Given the description of an element on the screen output the (x, y) to click on. 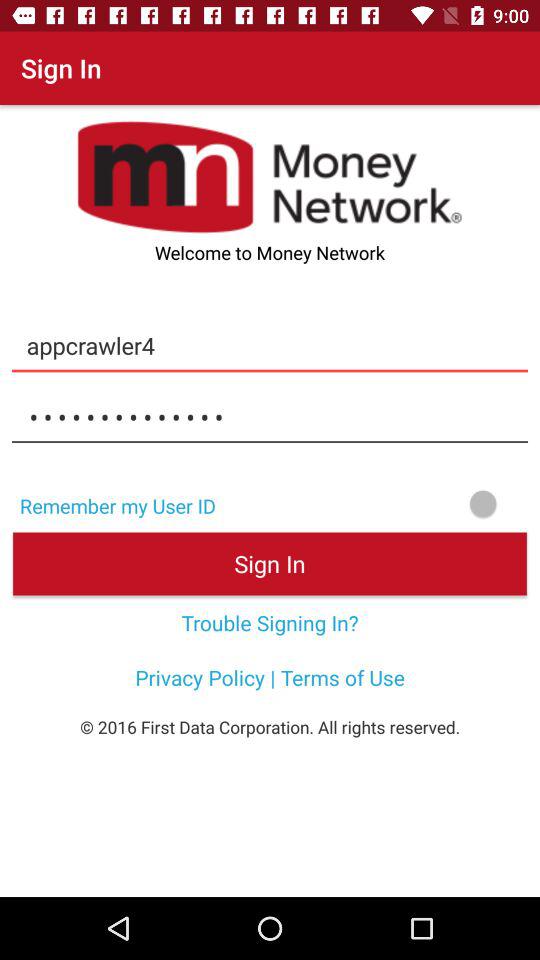
searching option (384, 503)
